Given the description of an element on the screen output the (x, y) to click on. 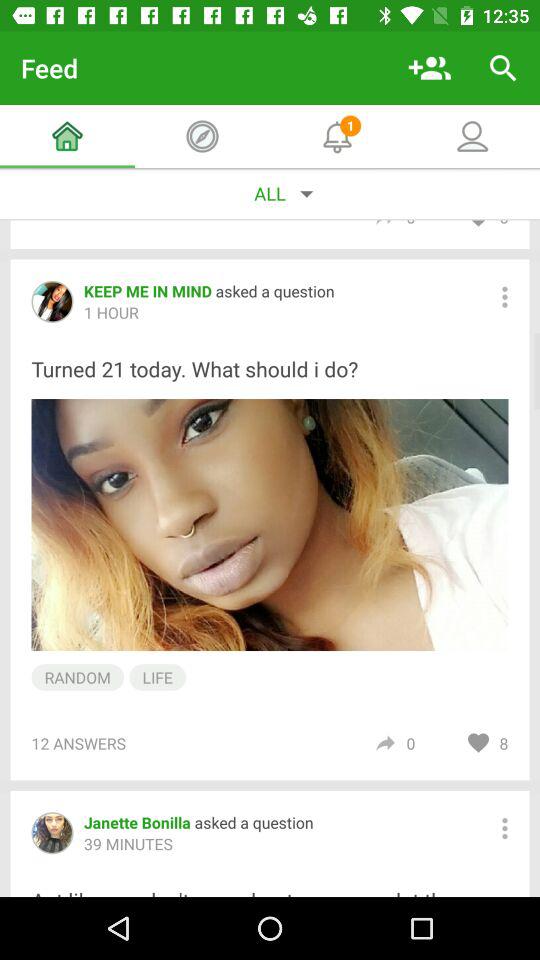
view separate menu (504, 828)
